Given the description of an element on the screen output the (x, y) to click on. 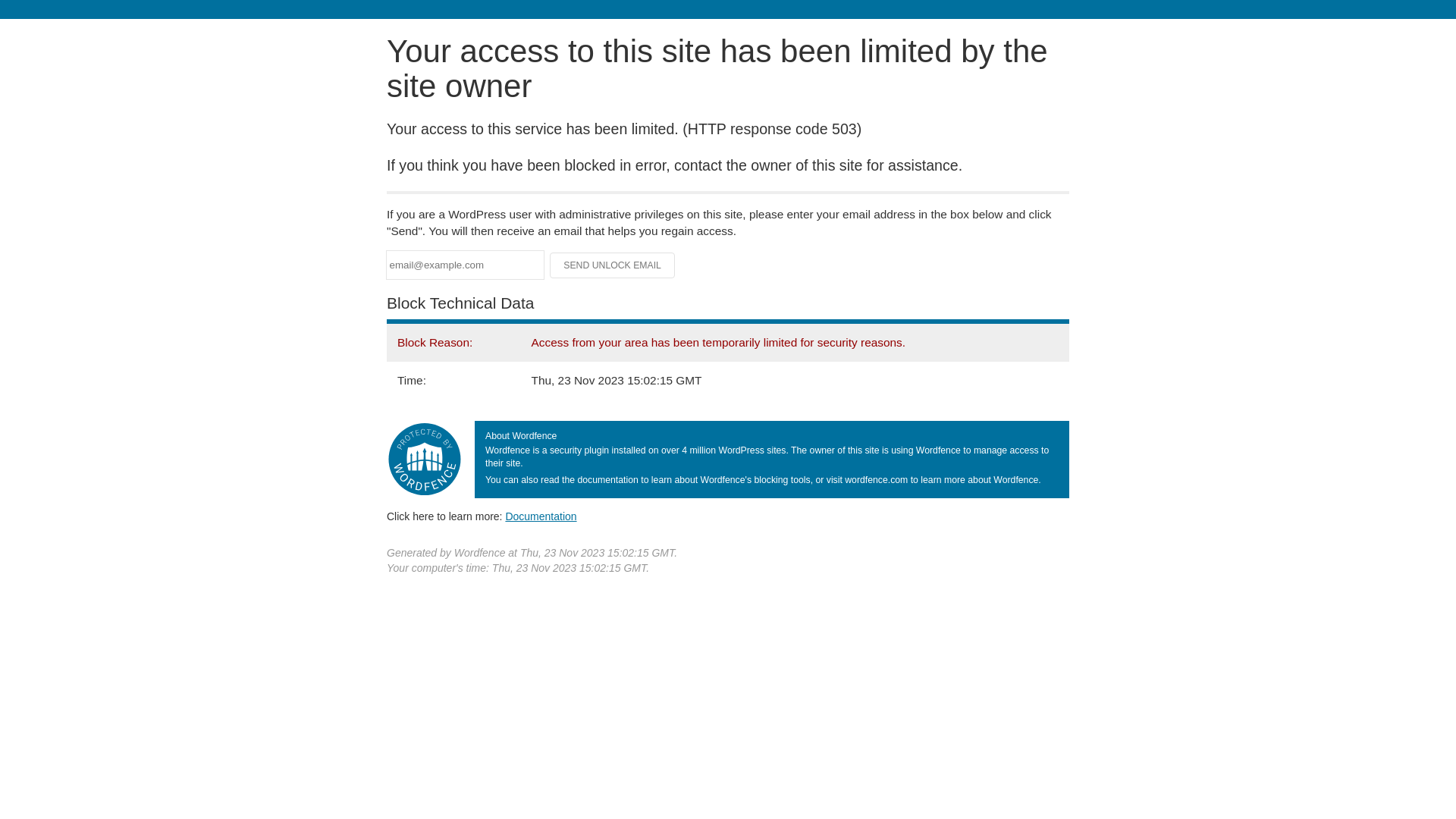
Send Unlock Email Element type: text (612, 265)
Documentation Element type: text (540, 516)
